Given the description of an element on the screen output the (x, y) to click on. 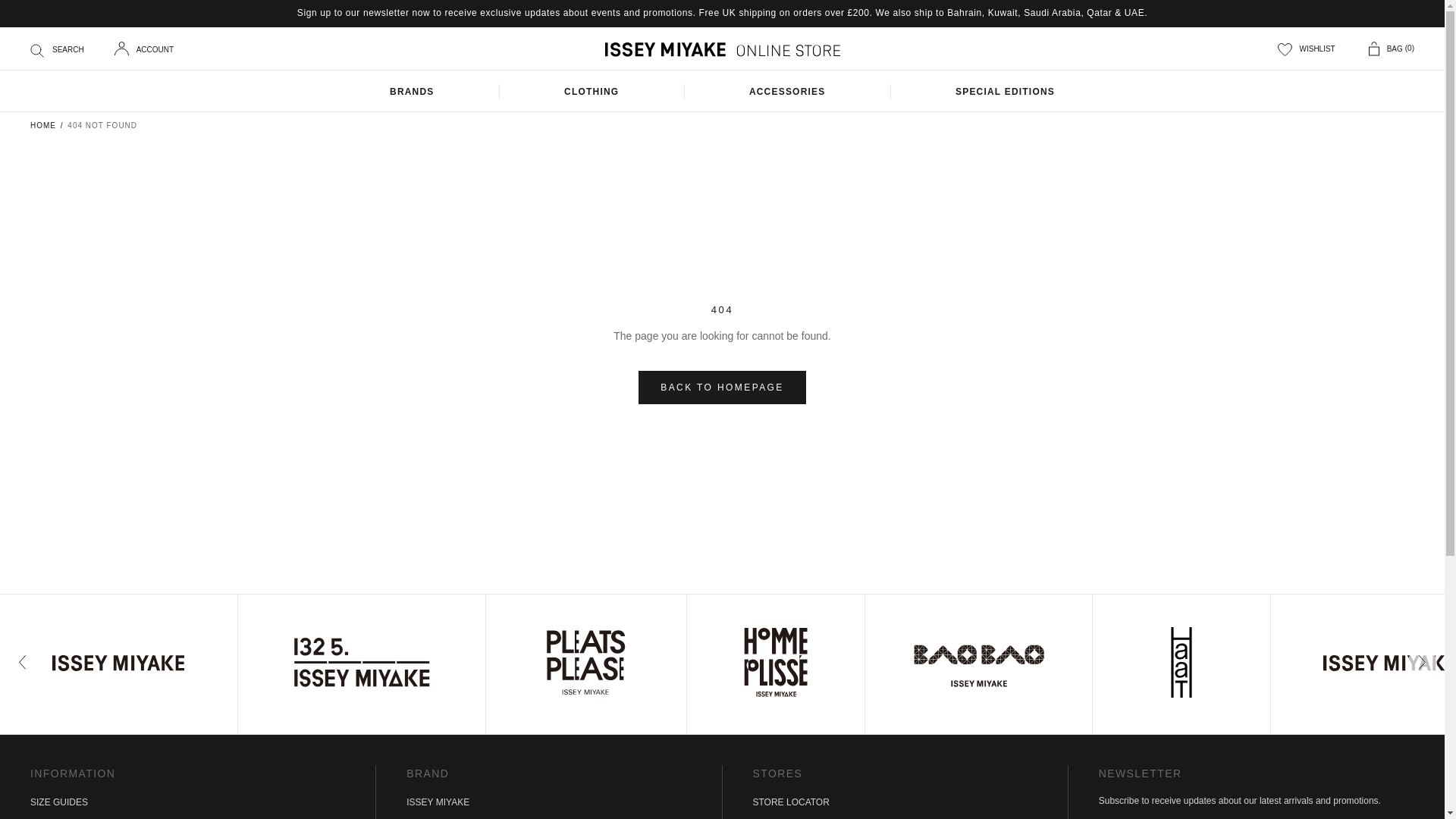
Home (43, 125)
